Given the description of an element on the screen output the (x, y) to click on. 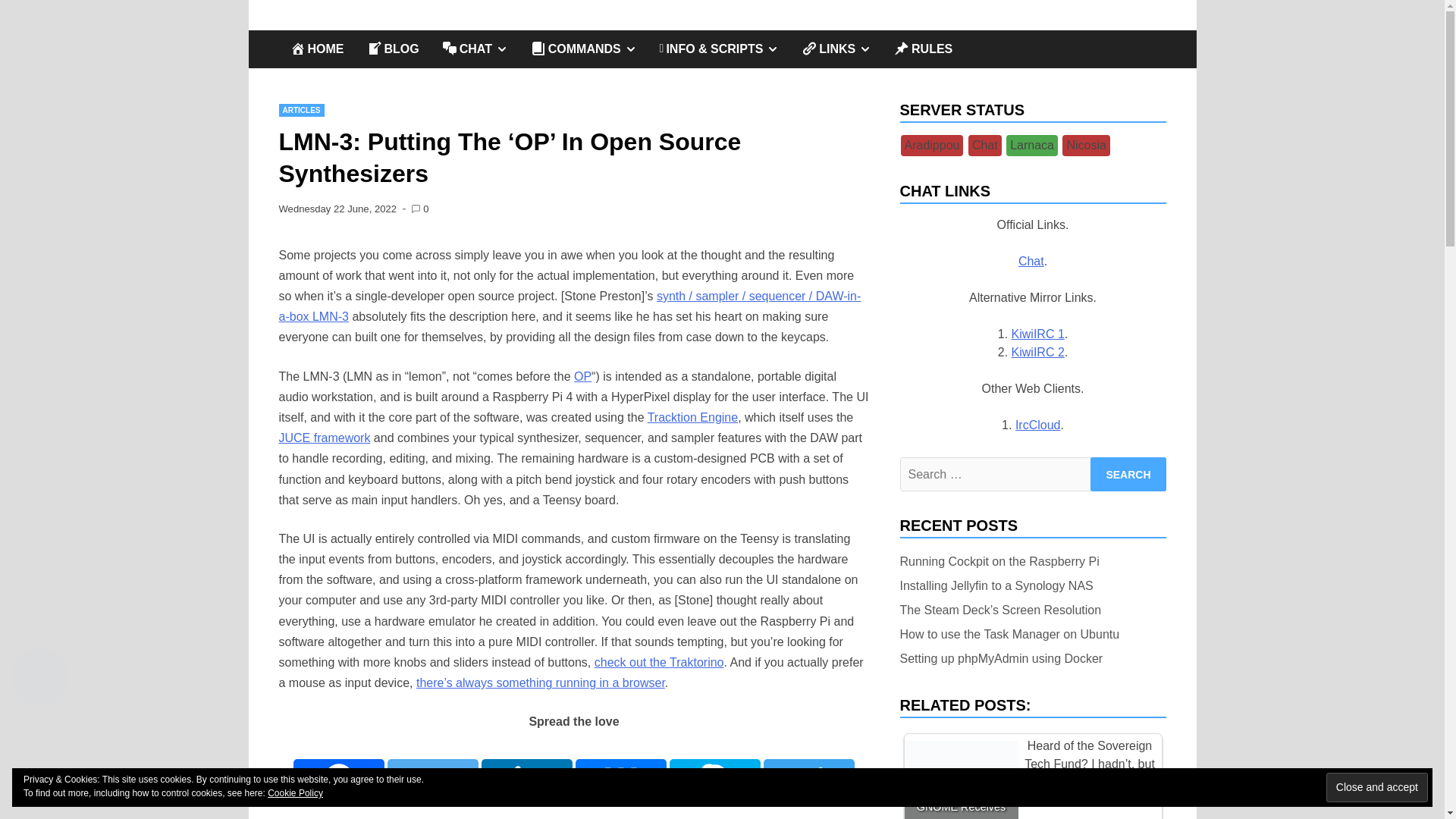
Close and accept (1377, 787)
Close and accept (1377, 787)
HOME (317, 48)
Search (836, 48)
BLOG (1128, 474)
Search (392, 48)
Cookie Policy (1128, 474)
CyIRC (295, 792)
Home (333, 42)
